Given the description of an element on the screen output the (x, y) to click on. 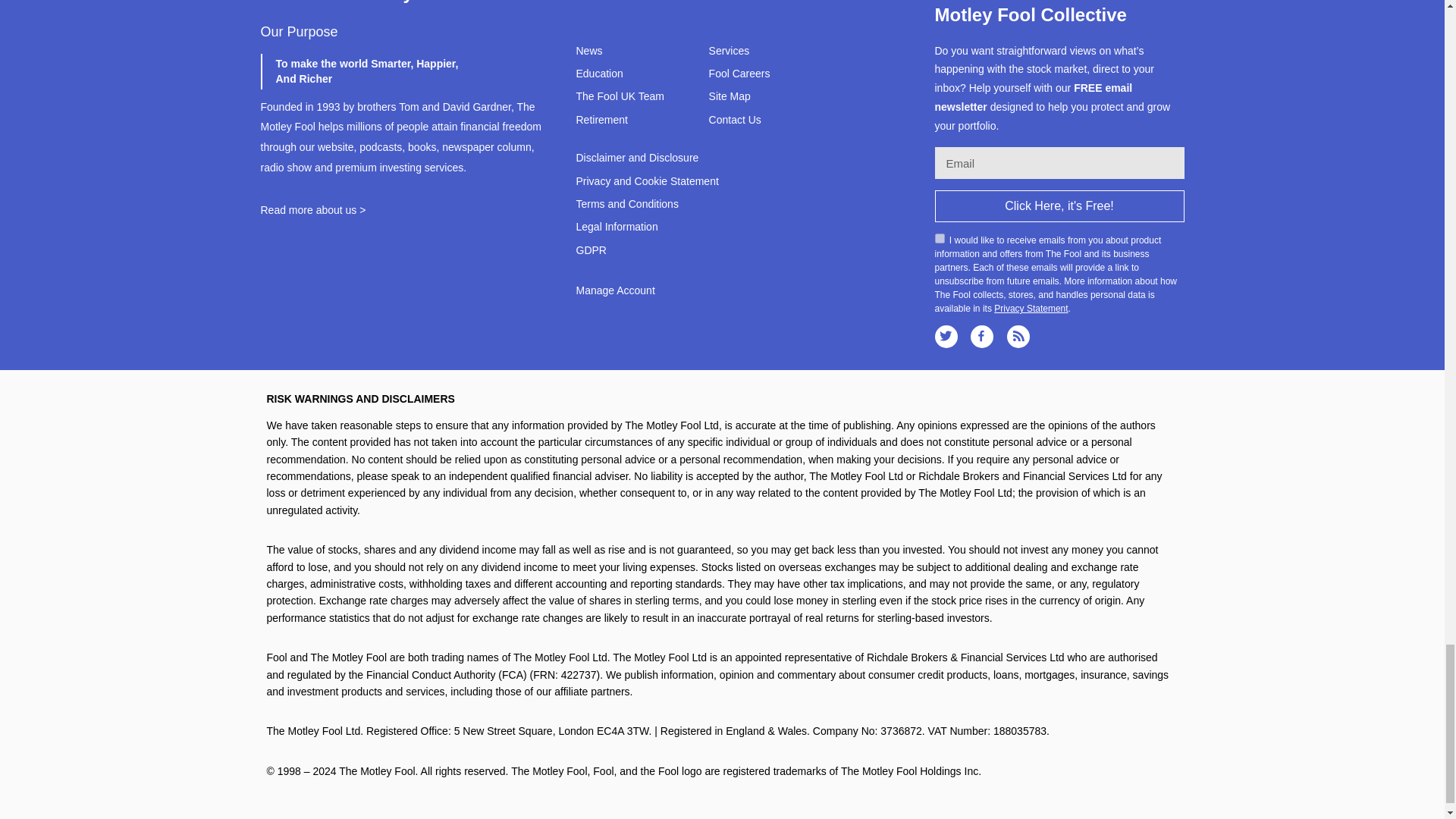
true (938, 238)
